Given the description of an element on the screen output the (x, y) to click on. 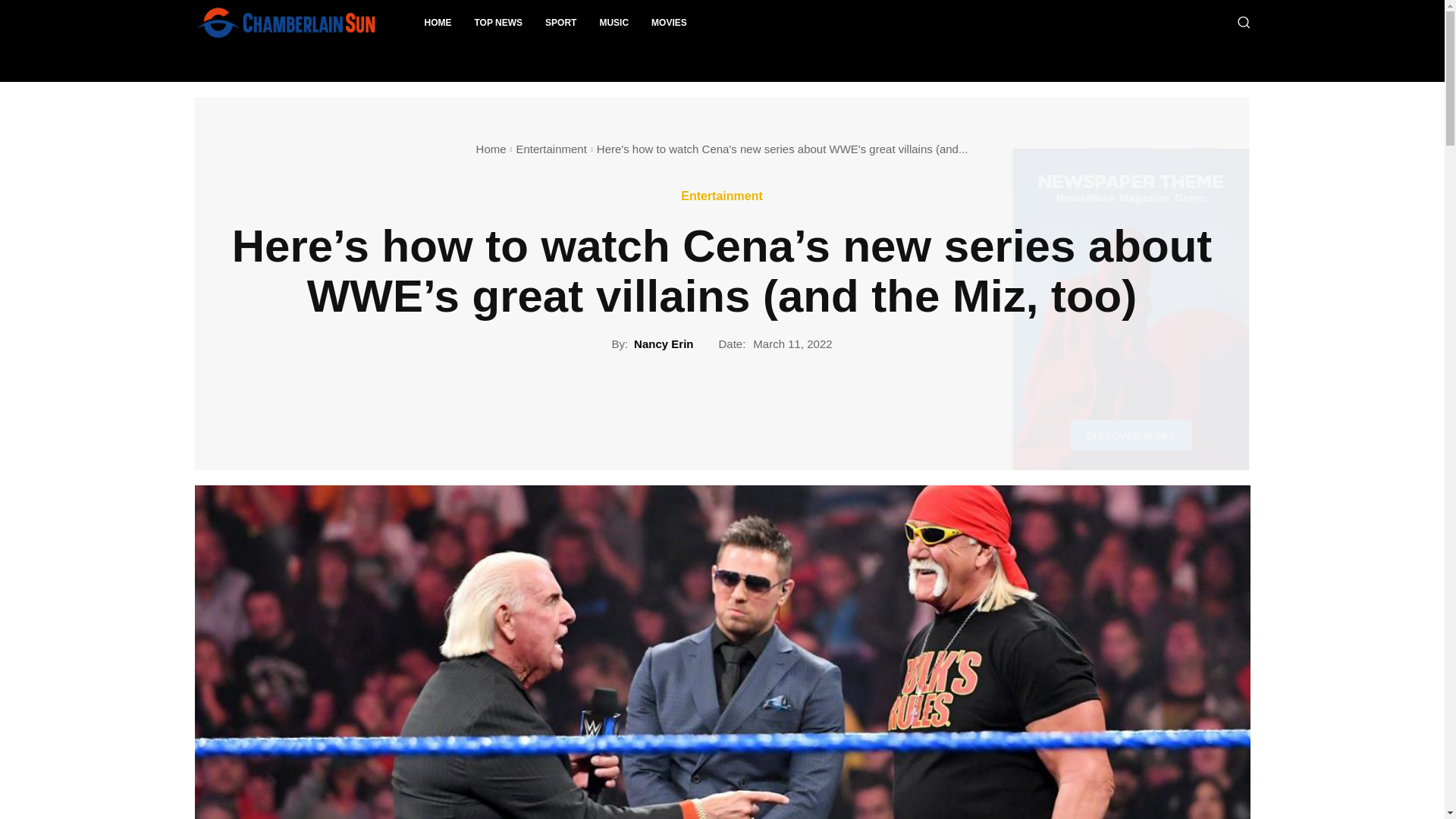
Home (491, 148)
MOVIES (669, 22)
TOP NEWS (498, 22)
SPORT (561, 22)
HOME (437, 22)
Entertainment (550, 148)
Nancy Erin (663, 344)
Entertainment (721, 196)
MUSIC (614, 22)
View all posts in Entertainment (550, 148)
